Given the description of an element on the screen output the (x, y) to click on. 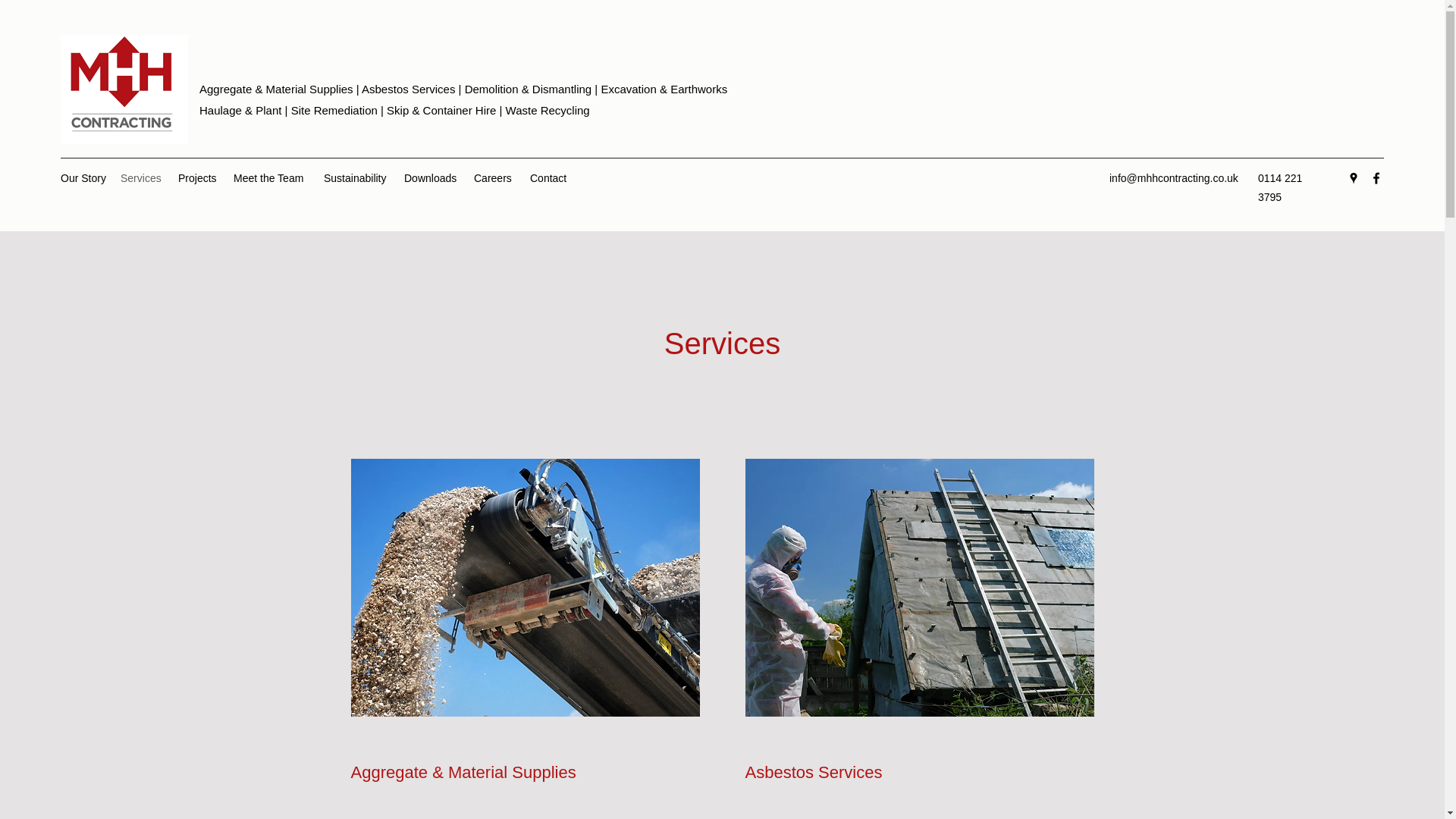
Projects (197, 178)
Careers (493, 178)
Services (141, 178)
Sustainability (355, 178)
Meet the Team (270, 178)
Downloads (430, 178)
Contact (550, 178)
Our Story (82, 178)
